Given the description of an element on the screen output the (x, y) to click on. 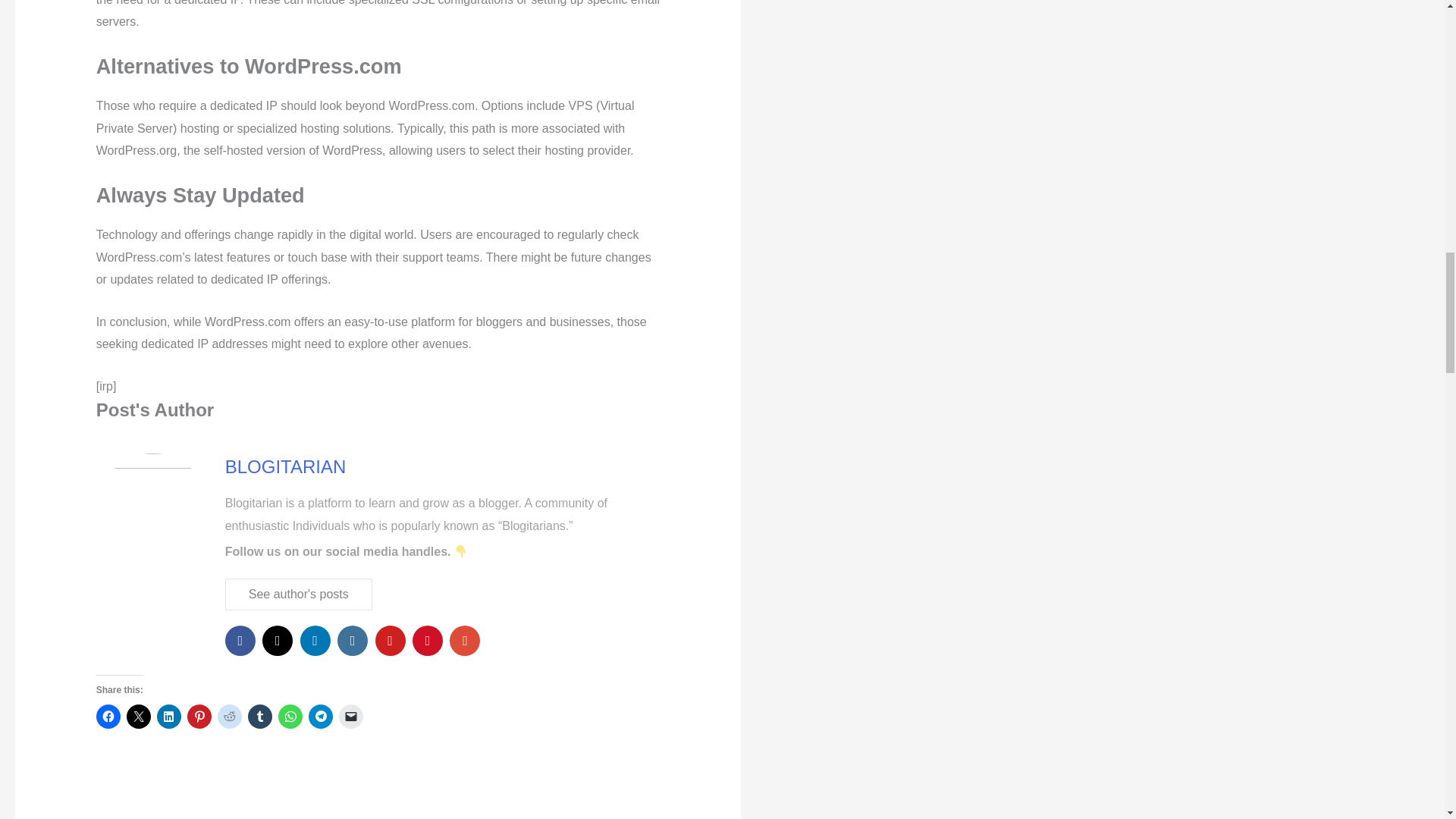
Click to share on X (138, 716)
Click to share on Pinterest (199, 716)
Click to share on Reddit (228, 716)
Click to share on LinkedIn (168, 716)
See author's posts (298, 594)
Click to share on WhatsApp (290, 716)
Click to share on Facebook (108, 716)
Click to share on Tumblr (259, 716)
BLOGITARIAN (285, 466)
